Given the description of an element on the screen output the (x, y) to click on. 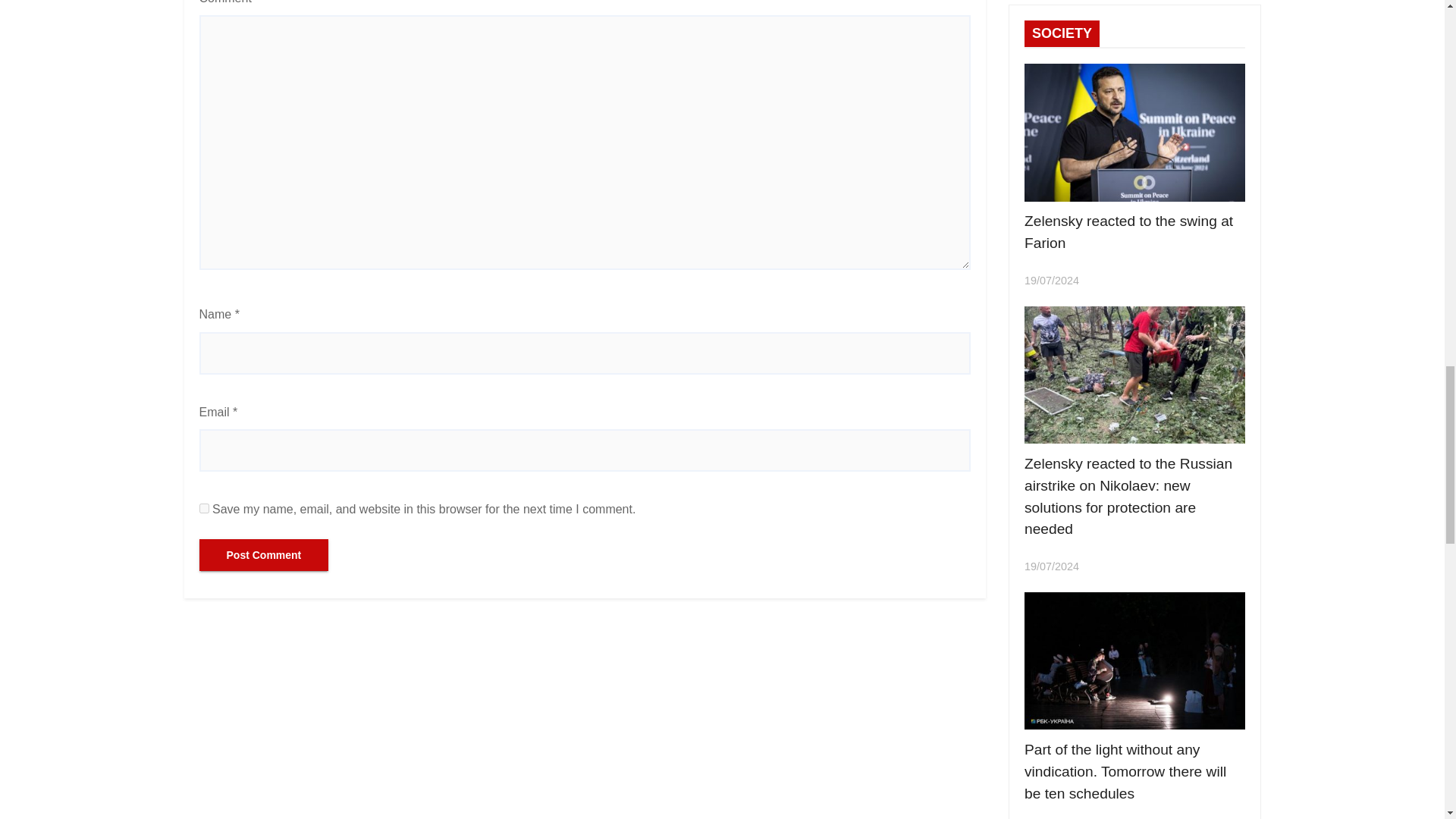
yes (203, 508)
Post Comment (263, 554)
